Given the description of an element on the screen output the (x, y) to click on. 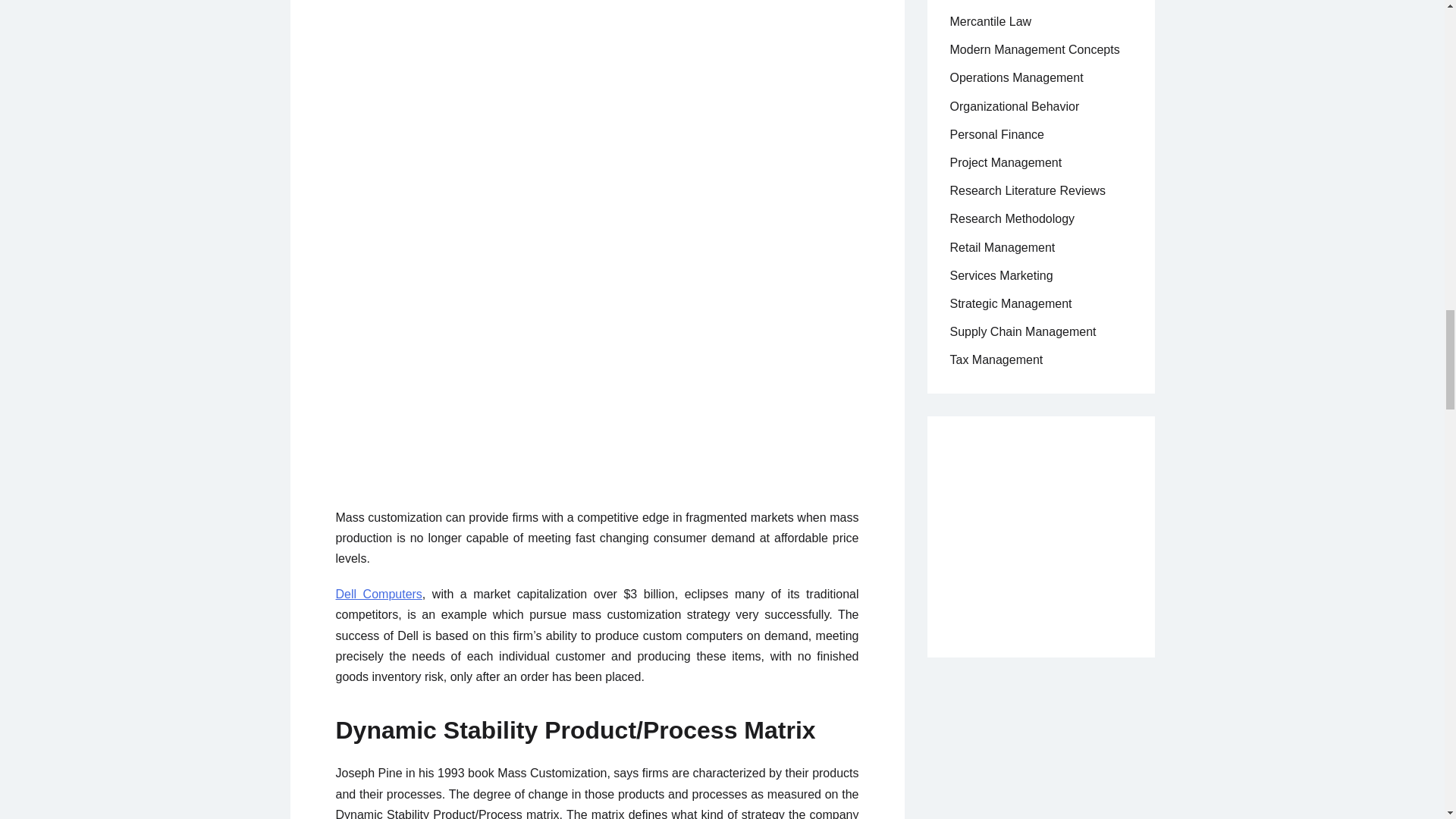
Dell Computers (378, 594)
